Given the description of an element on the screen output the (x, y) to click on. 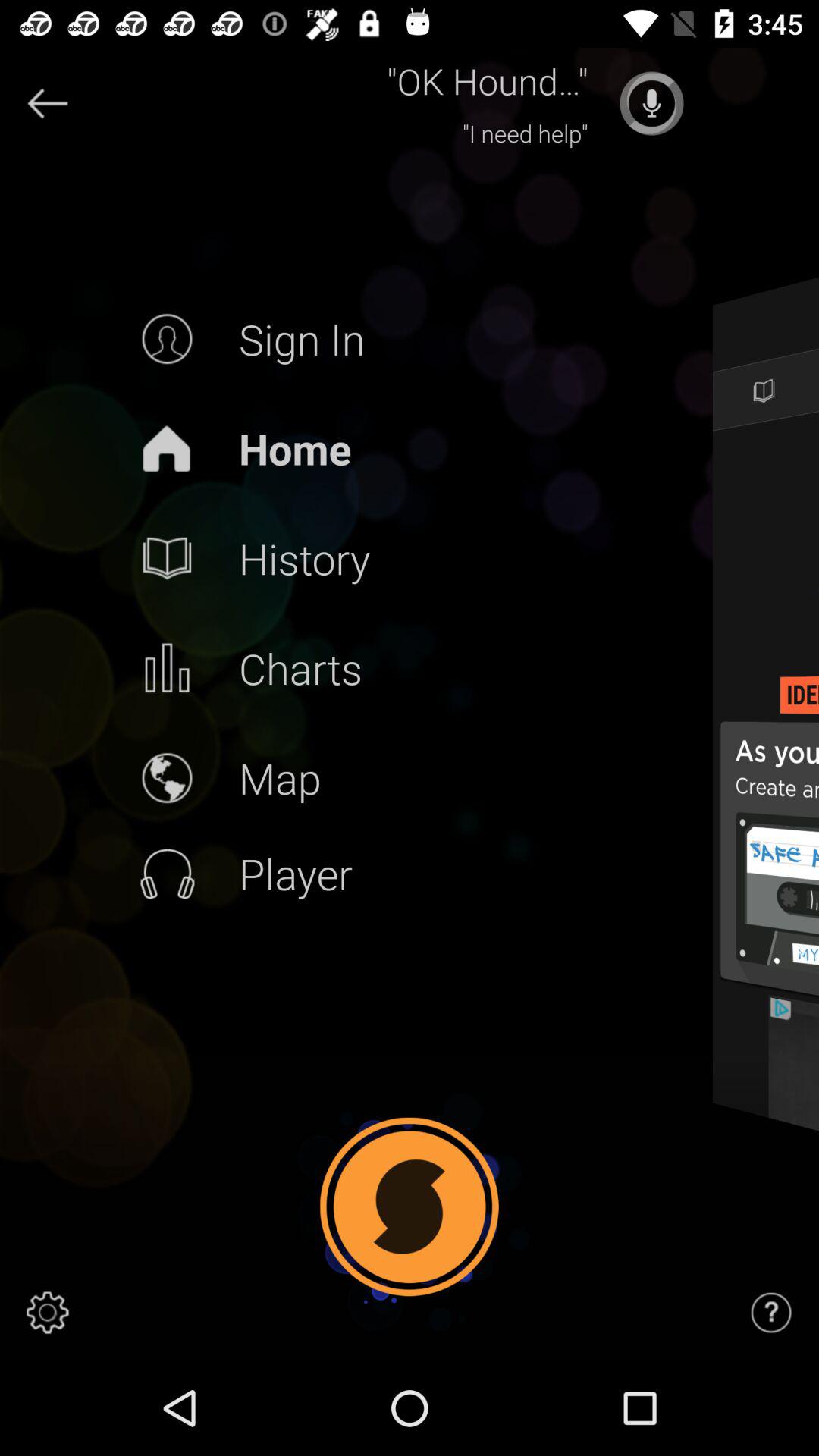
help button (771, 1312)
